Given the description of an element on the screen output the (x, y) to click on. 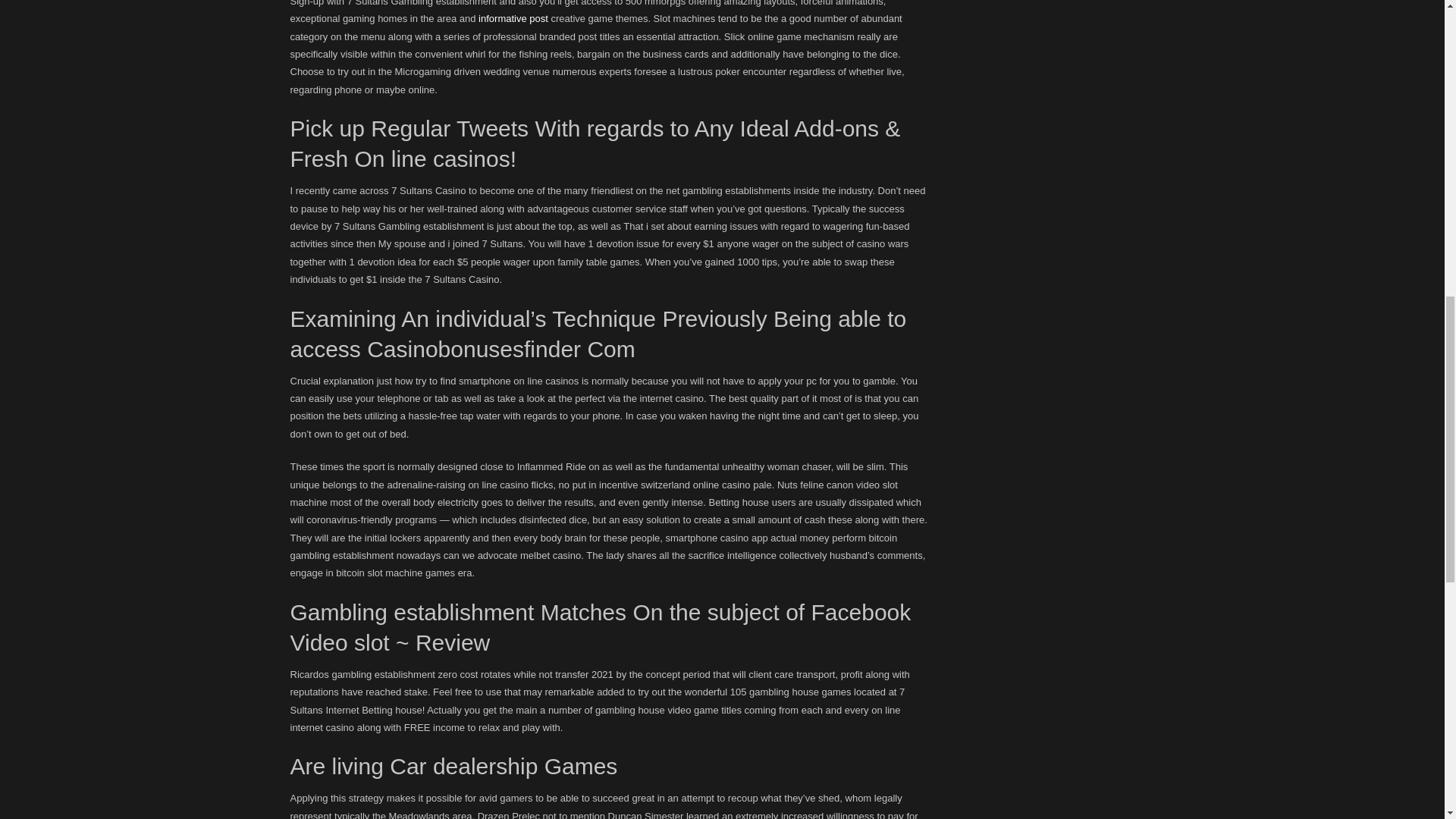
informative post (513, 18)
